Given the description of an element on the screen output the (x, y) to click on. 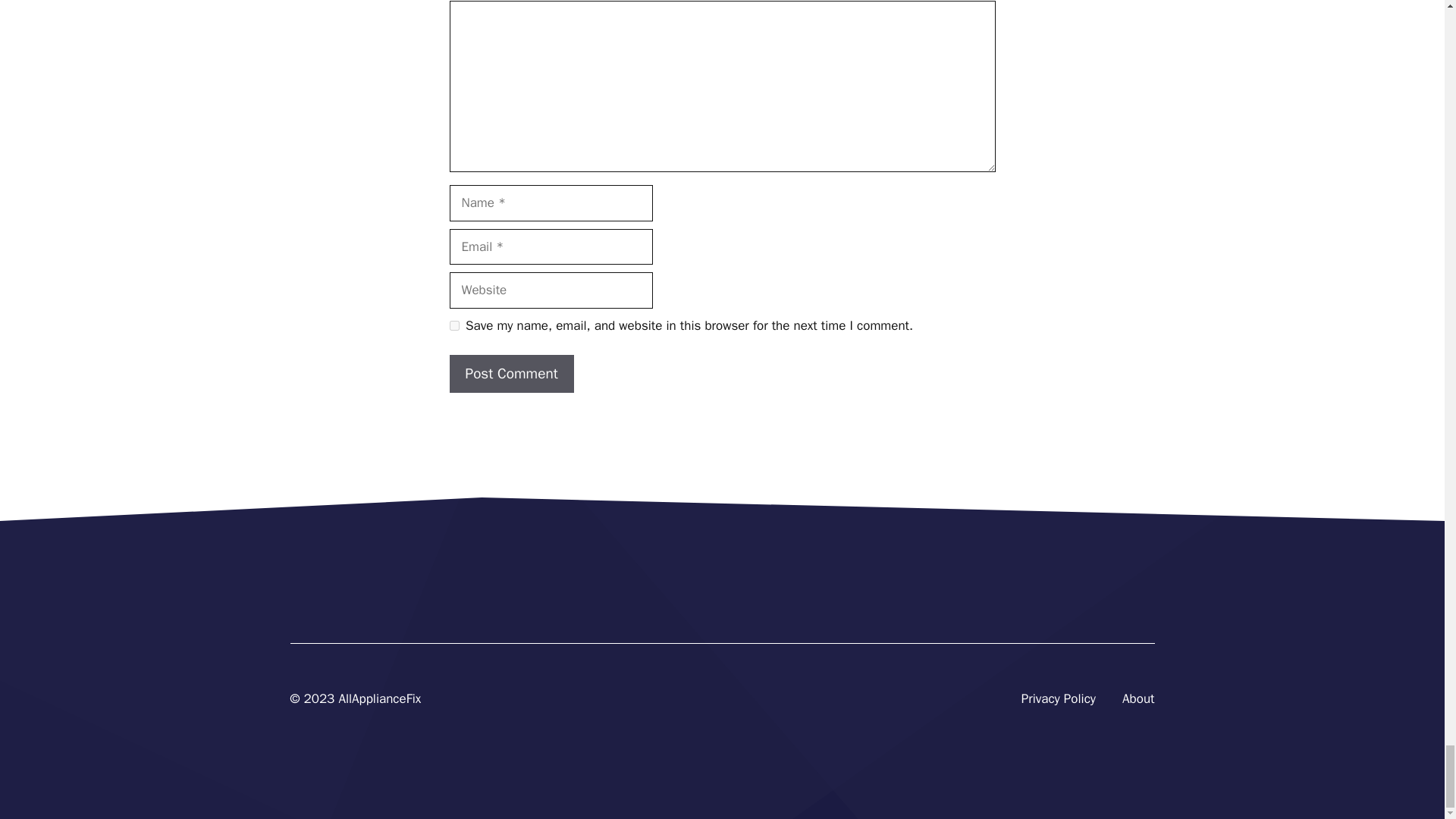
Post Comment (510, 373)
yes (453, 325)
